Given the description of an element on the screen output the (x, y) to click on. 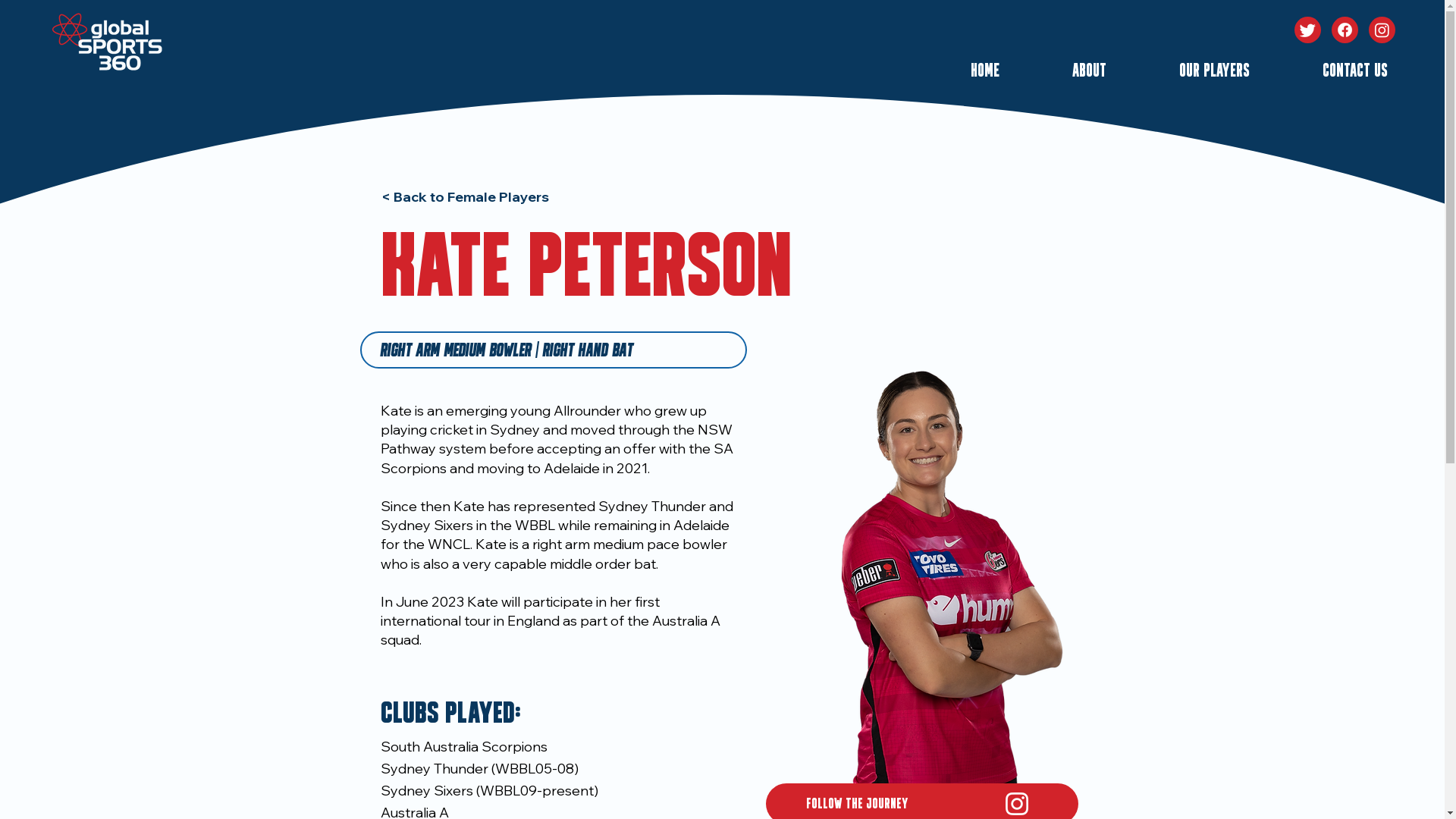
OUR PLAYERS Element type: text (1189, 72)
Global Sports 360 Element type: hover (69, 28)
Kate Peterson Element type: hover (921, 555)
< Back to Female Players Element type: text (475, 197)
HOME Element type: text (959, 72)
CONTACT US Element type: text (1330, 72)
ABOUT Element type: text (1063, 72)
Global Sports 360 Element type: hover (120, 45)
